Given the description of an element on the screen output the (x, y) to click on. 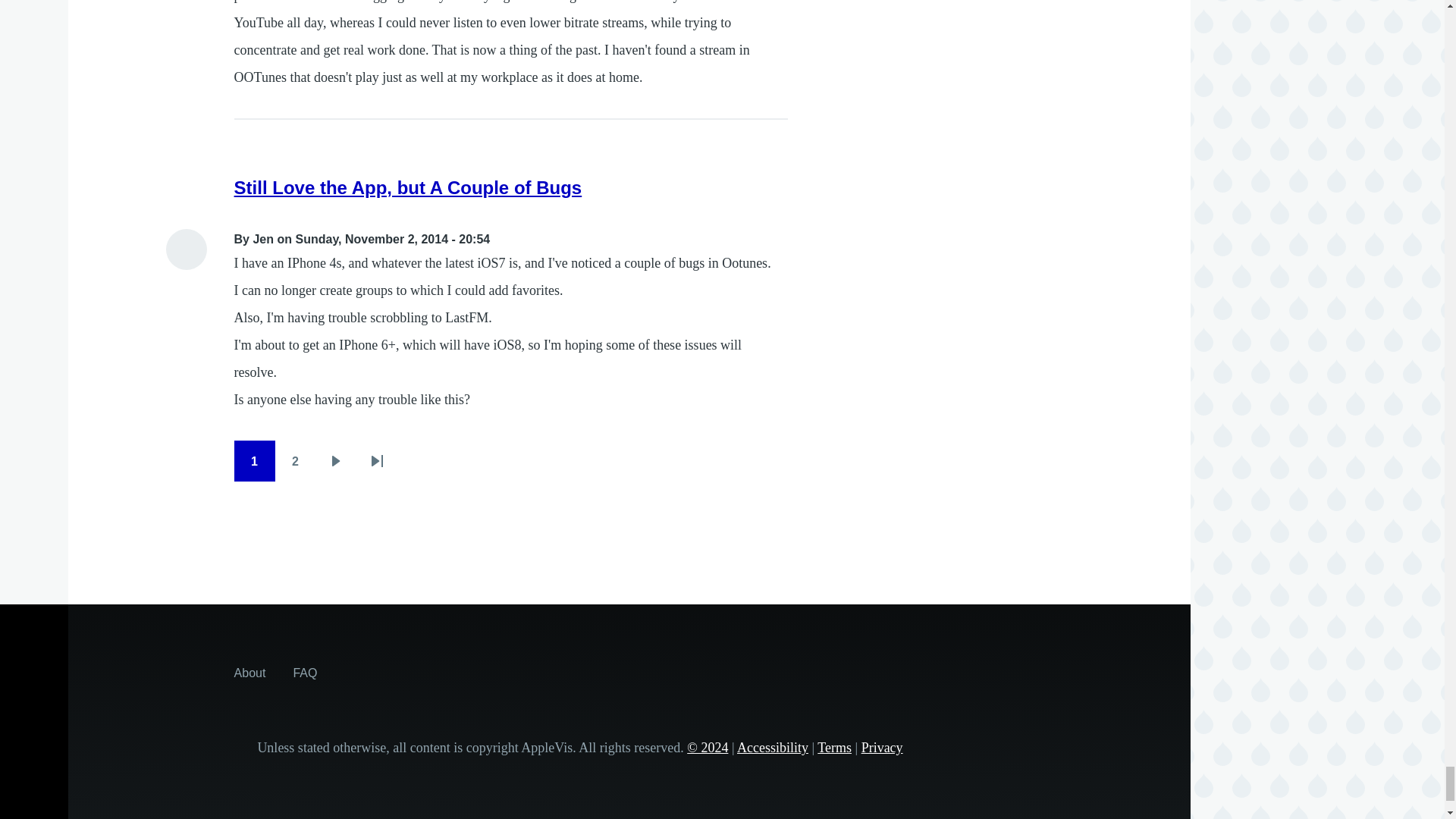
Go to next page (335, 460)
About (250, 672)
Go to page 2 (295, 460)
Answers to some frequently asked questions about AppleVis (304, 672)
Go to last page (376, 460)
